Given the description of an element on the screen output the (x, y) to click on. 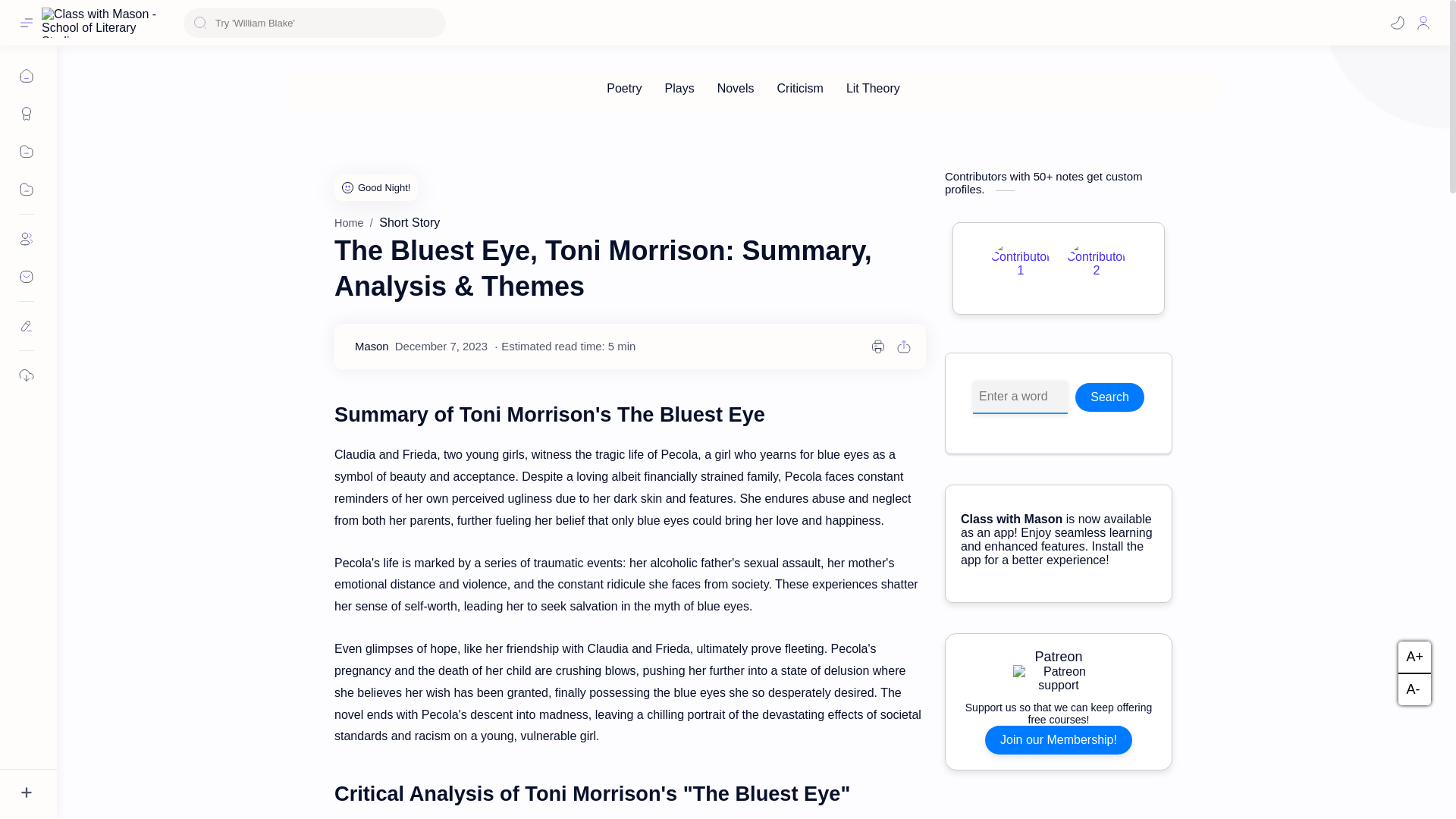
Short Story (408, 222)
Published: December 7, 2023 (440, 346)
Home (348, 223)
